Given the description of an element on the screen output the (x, y) to click on. 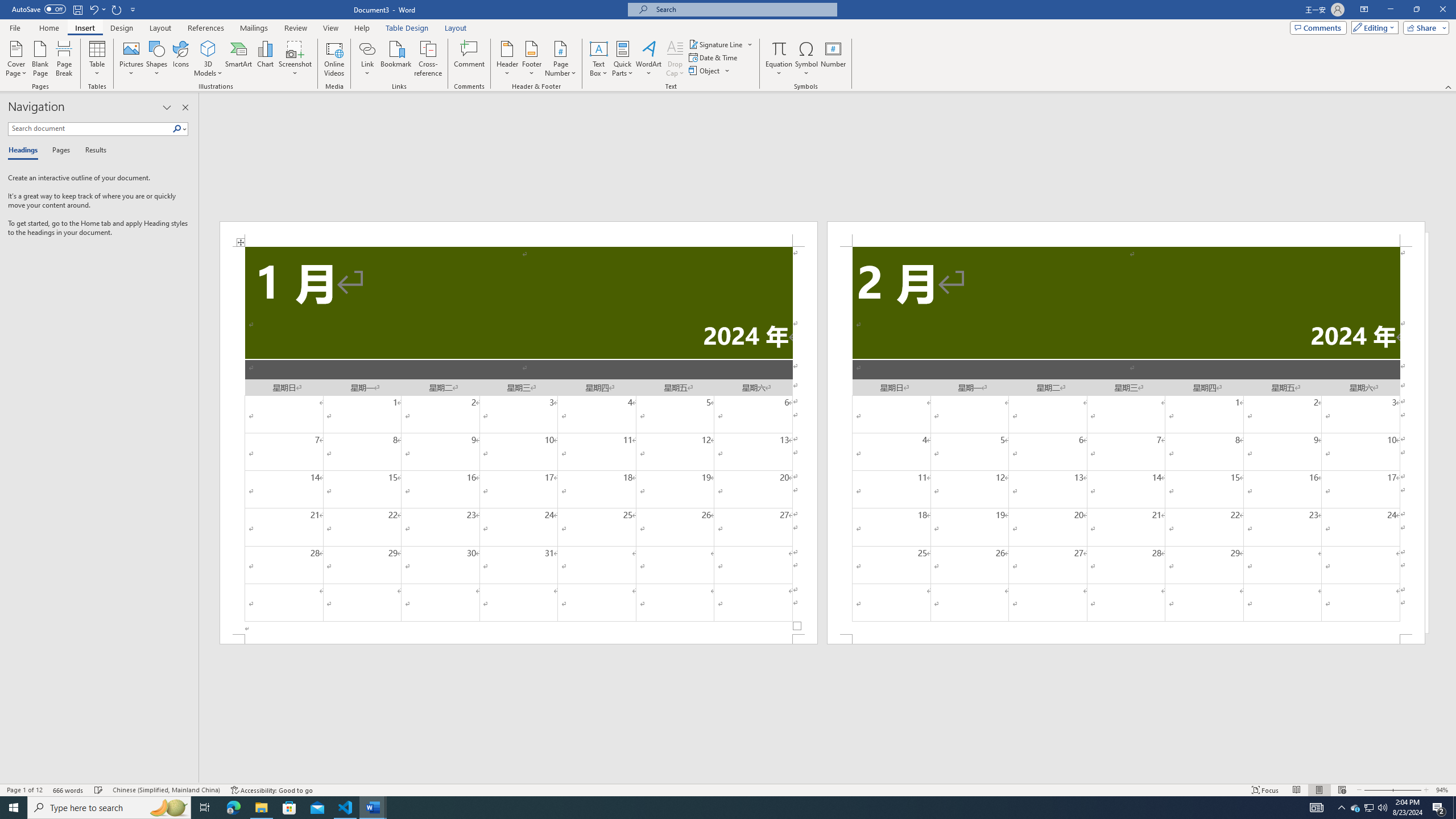
Page 1 content (518, 439)
Equation (778, 48)
Table (97, 58)
Object... (705, 69)
SmartArt... (238, 58)
3D Models (208, 58)
Screenshot (295, 58)
Header -Section 1- (518, 233)
Page 2 content (1126, 439)
